Given the description of an element on the screen output the (x, y) to click on. 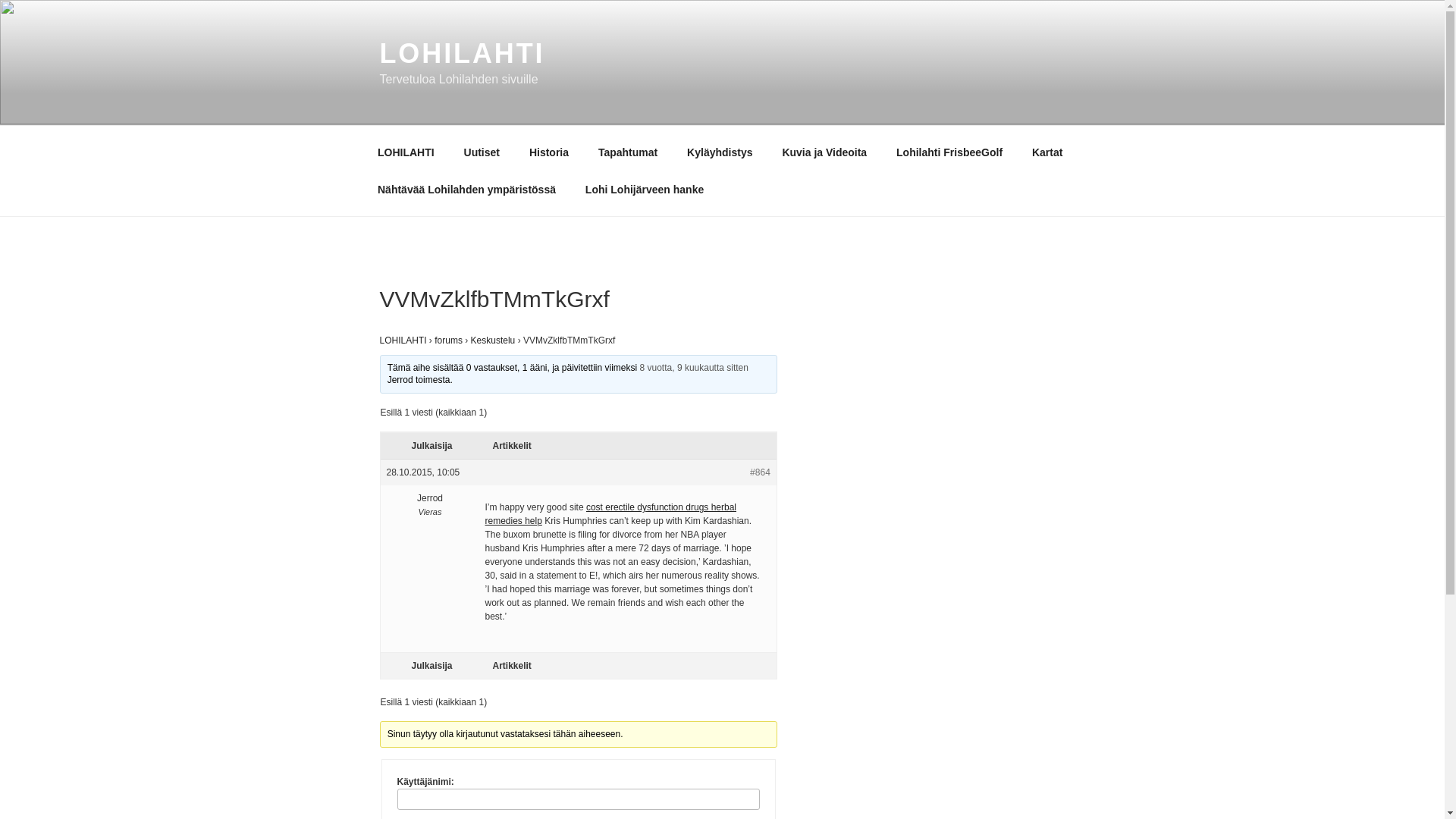
VVMvZklfbTMmTkGrxf (694, 367)
Tapahtumat (627, 151)
Kartat (1046, 151)
Uutiset (480, 151)
forums (448, 339)
Keskustelu (492, 339)
Kuvia ja Videoita (824, 151)
Historia (547, 151)
8 vuotta, 9 kuukautta sitten (694, 367)
LOHILAHTI (461, 52)
cost erectile dysfunction drugs herbal remedies help (610, 514)
LOHILAHTI (402, 339)
Lohilahti FrisbeeGolf (949, 151)
LOHILAHTI (405, 151)
